Given the description of an element on the screen output the (x, y) to click on. 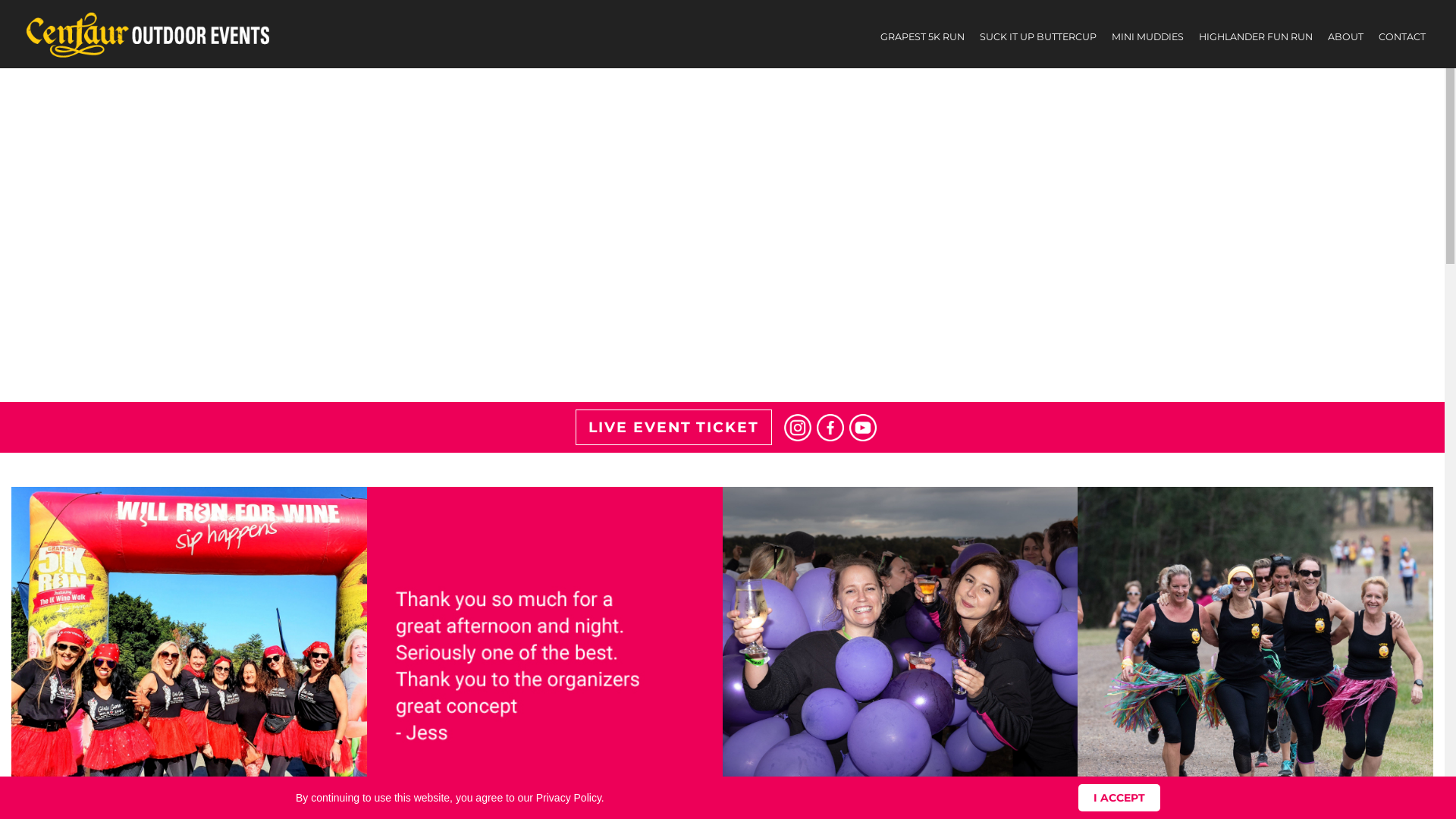
HIGHLANDER FUN RUN Element type: text (1255, 37)
MINI MUDDIES Element type: text (1147, 37)
I ACCEPT Element type: text (1119, 797)
SUCK IT UP BUTTERCUP Element type: text (1038, 37)
LIVE EVENT TICKET Element type: text (673, 427)
GRAPEST 5K RUN Element type: text (922, 37)
Privacy Policy Element type: text (568, 797)
CONTACT Element type: text (1402, 37)
ABOUT Element type: text (1345, 37)
